Given the description of an element on the screen output the (x, y) to click on. 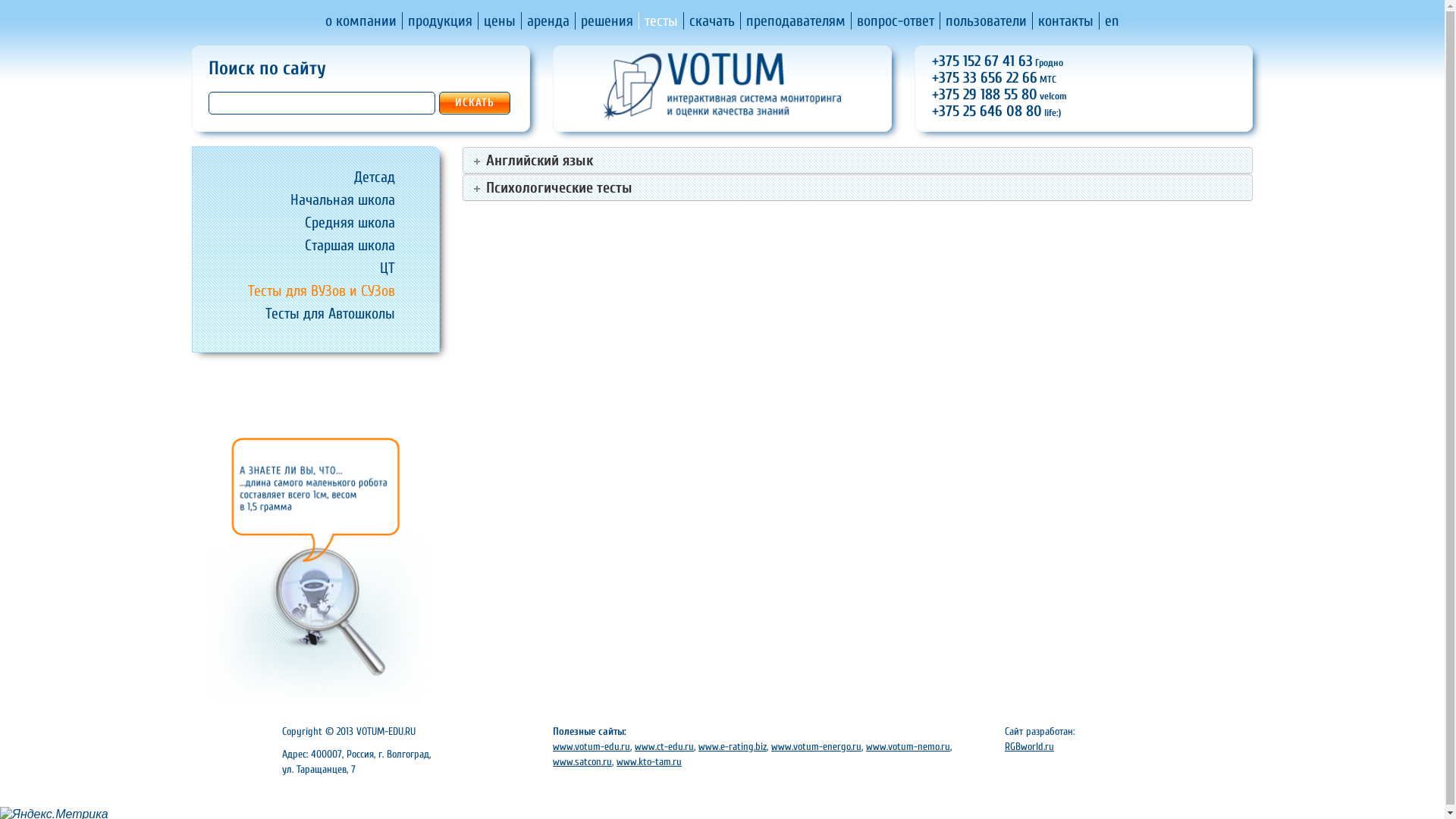
www.votum-nemo.ru Element type: text (908, 746)
www.ct-edu.ru Element type: text (663, 746)
www.votum-energo.ru Element type: text (816, 746)
www.satcon.ru Element type: text (581, 761)
RGBworld.ru Element type: text (1029, 746)
www.e-rating.biz Element type: text (732, 746)
www.votum-edu.ru Element type: text (591, 746)
en Element type: text (1111, 20)
www.kto-tam.ru Element type: text (648, 761)
